Given the description of an element on the screen output the (x, y) to click on. 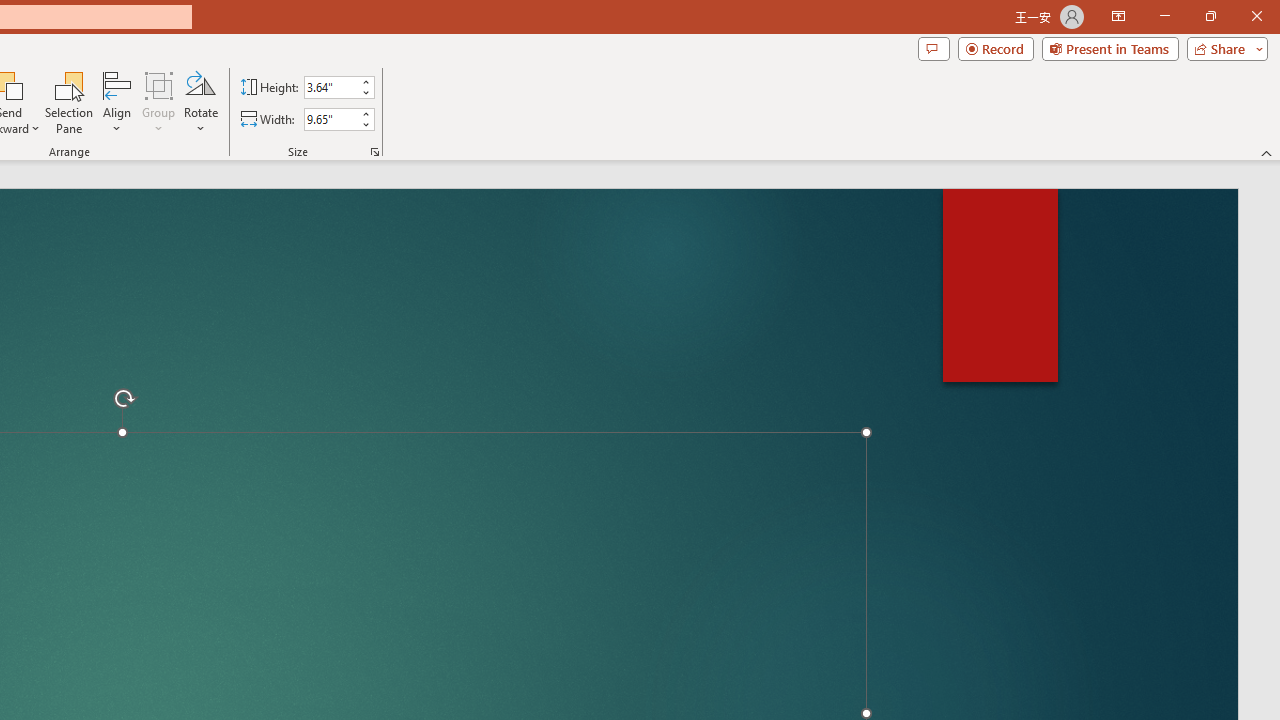
Shape Height (330, 87)
Rotate (200, 102)
Align (117, 102)
Shape Width (330, 119)
Size and Position... (374, 151)
Selection Pane... (69, 102)
